Given the description of an element on the screen output the (x, y) to click on. 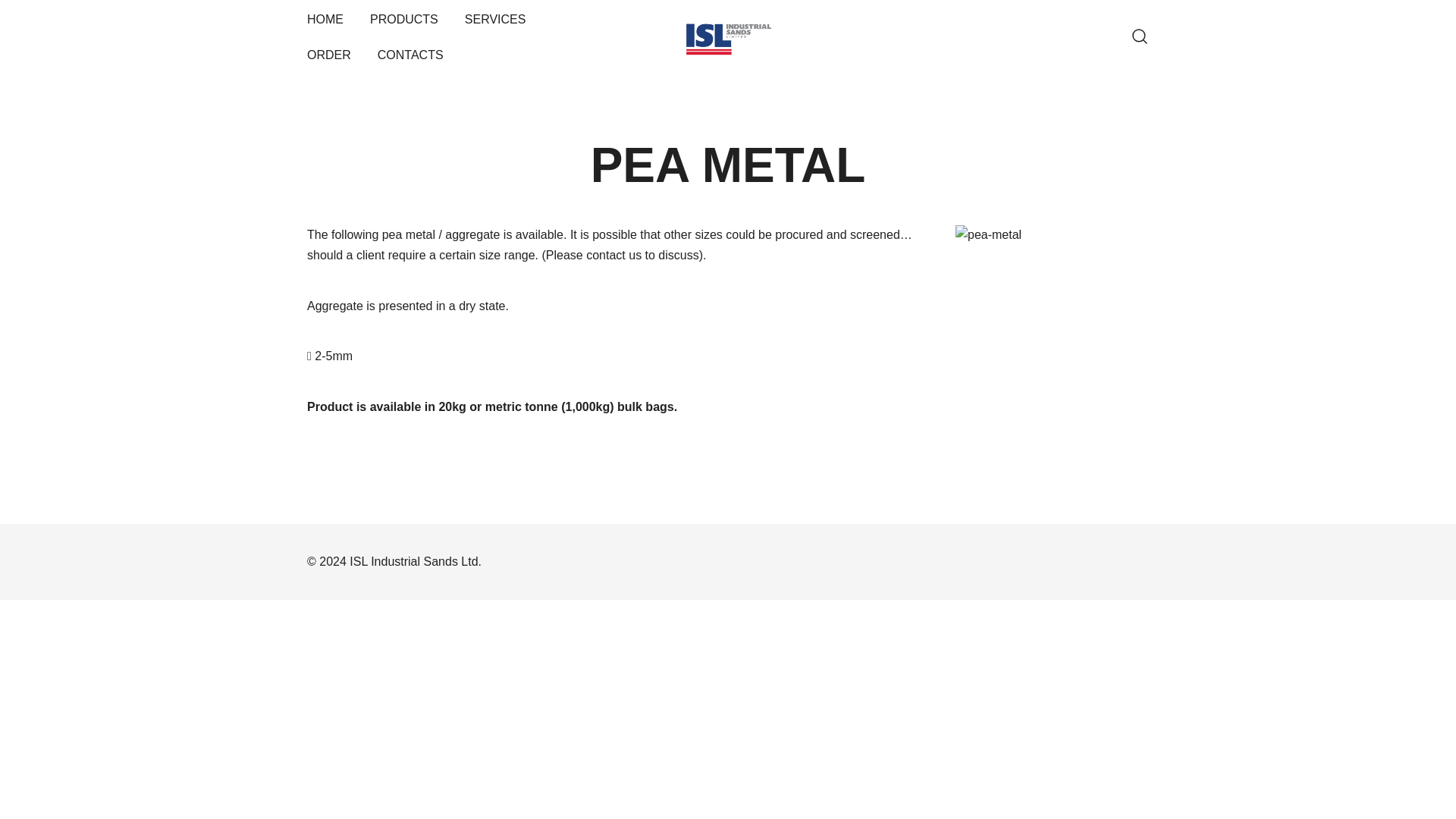
SERVICES (494, 19)
ORDER (328, 55)
HOME (325, 19)
ISL Industrial Sands Ltd (769, 76)
pea-metal (1022, 292)
CONTACTS (410, 55)
PRODUCTS (403, 19)
